Given the description of an element on the screen output the (x, y) to click on. 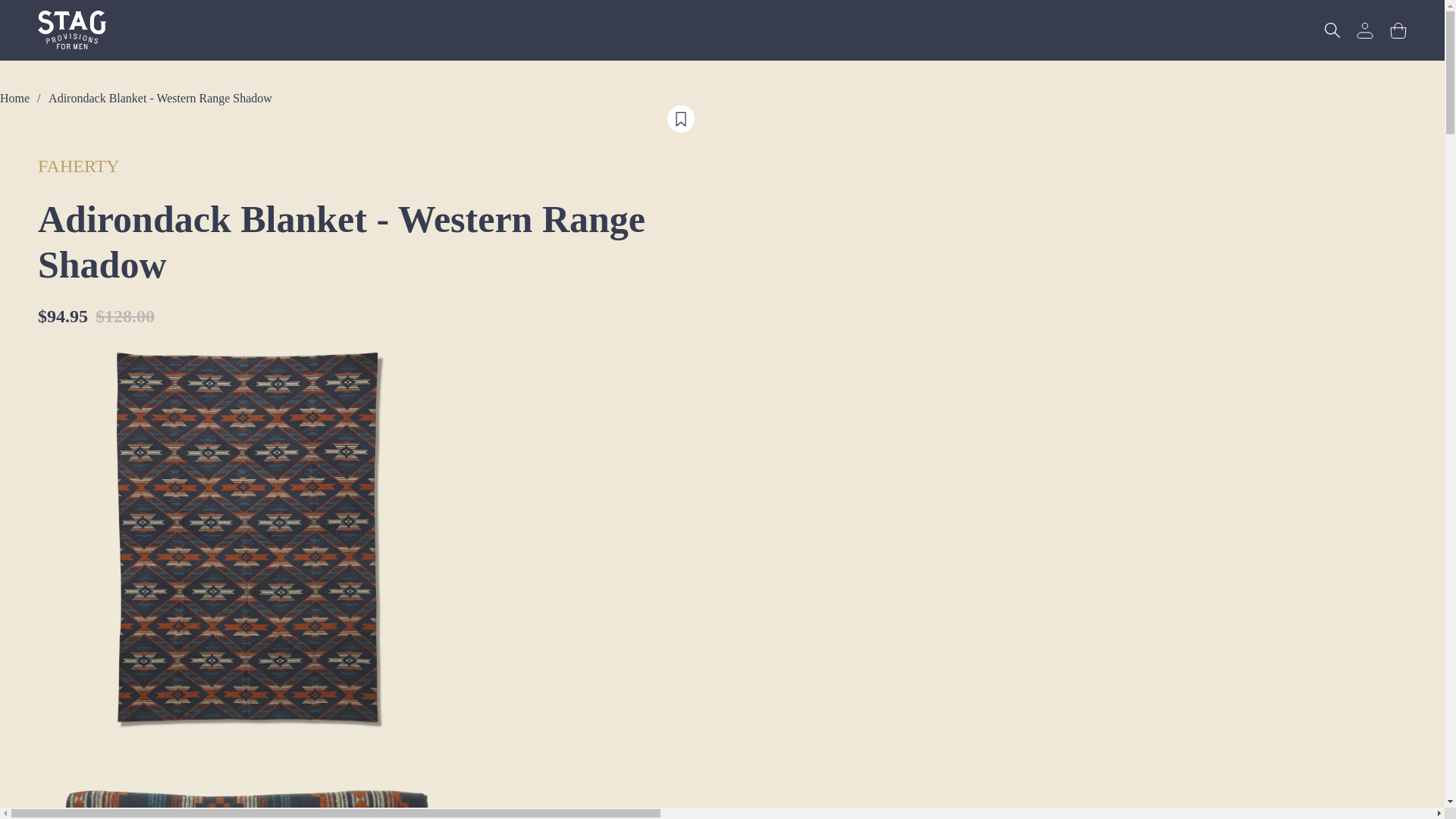
Cart (1398, 30)
My Account (1364, 30)
Search (1332, 30)
Account (1364, 30)
Cart (1398, 30)
